Given the description of an element on the screen output the (x, y) to click on. 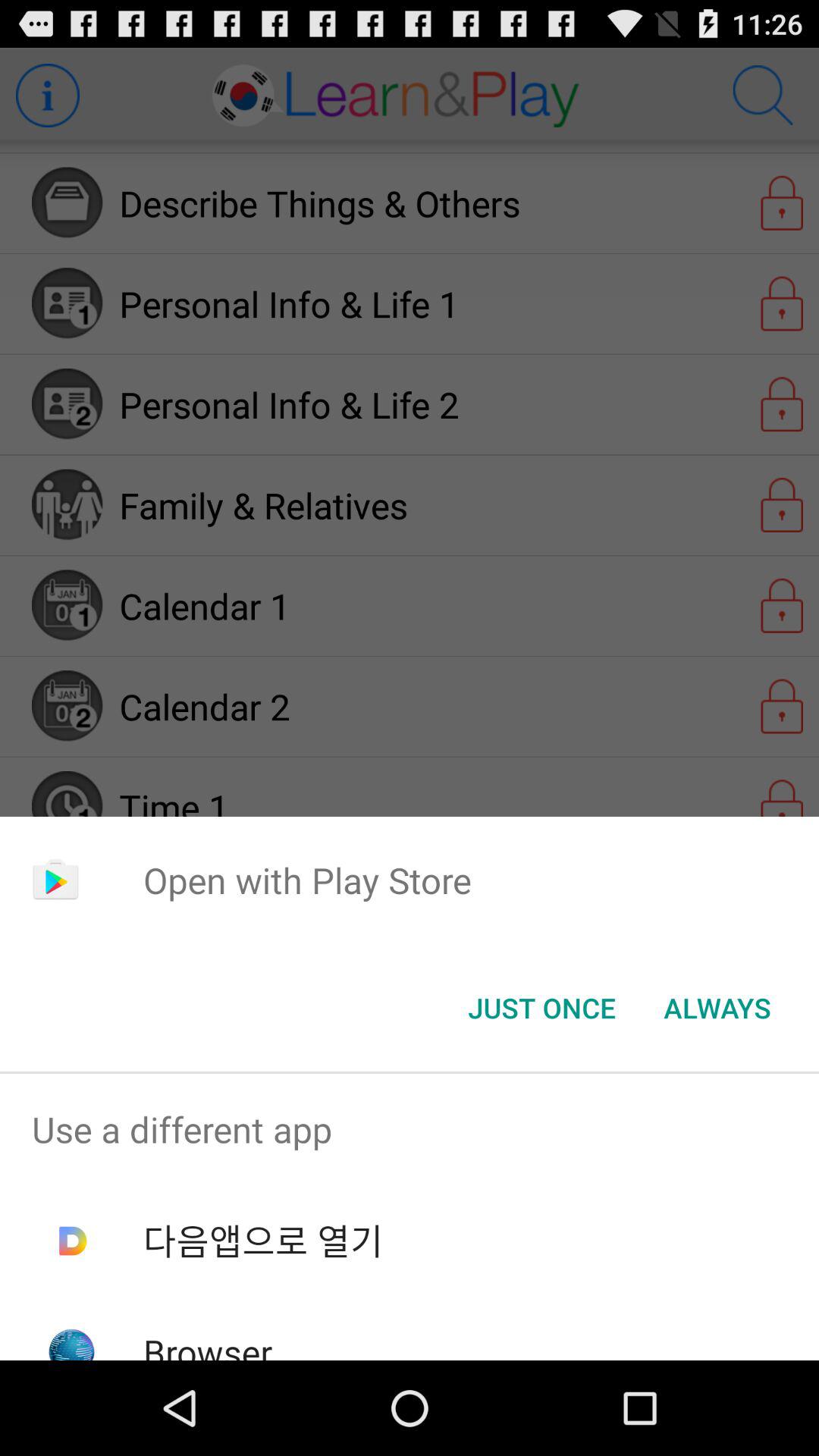
tap the button at the bottom right corner (717, 1007)
